Given the description of an element on the screen output the (x, y) to click on. 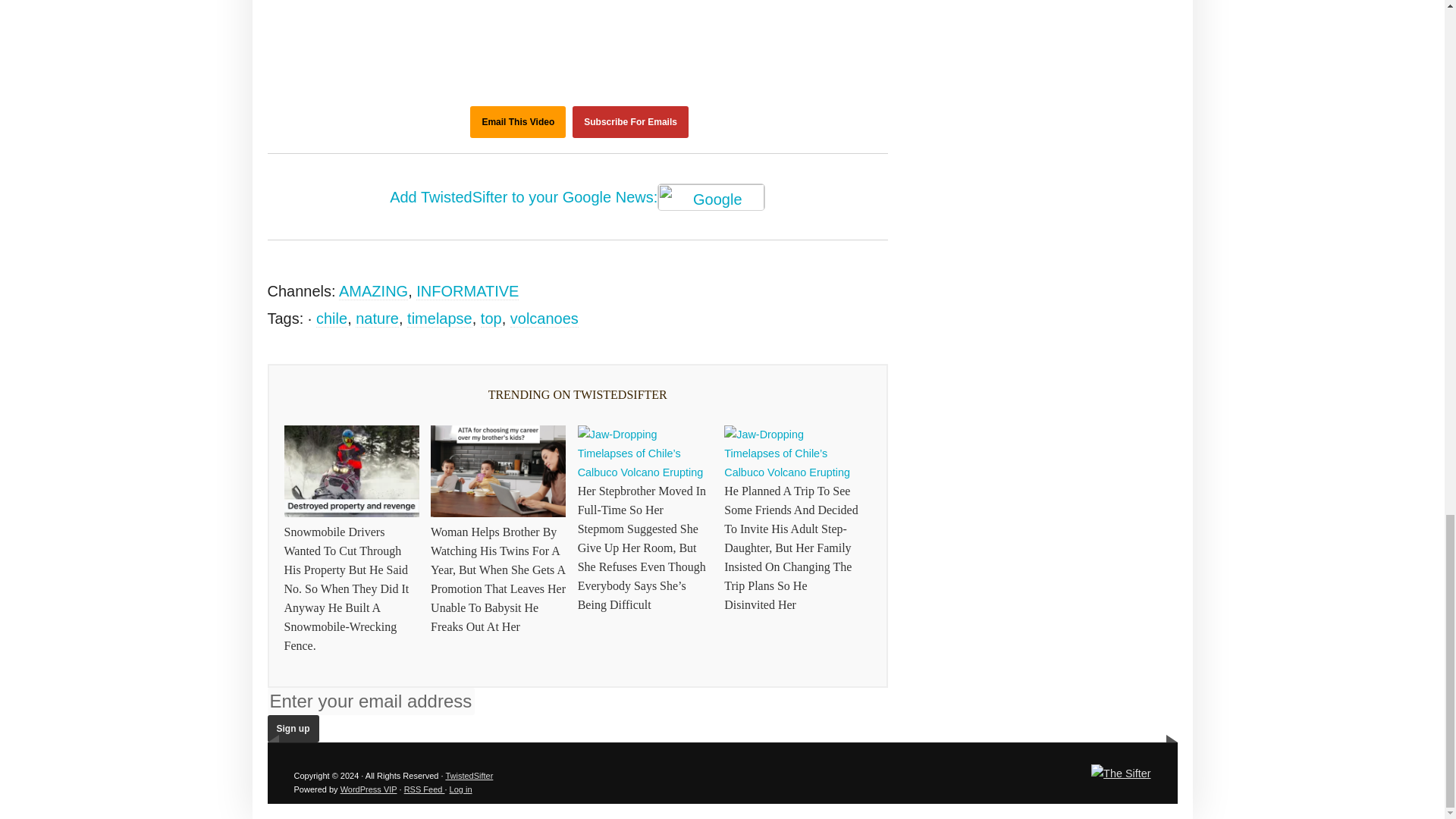
INFORMATIVE (467, 291)
AMAZING (373, 291)
Google News (711, 196)
Jaw Dropping Timelapses of Chiles Calbuco Volcano Erupting (577, 18)
Add TwistedSifter to your Google News: (577, 198)
Feeling Sifty? (1120, 773)
Email This Video (518, 122)
Subscribe For Emails (630, 122)
Sign up (292, 728)
